Given the description of an element on the screen output the (x, y) to click on. 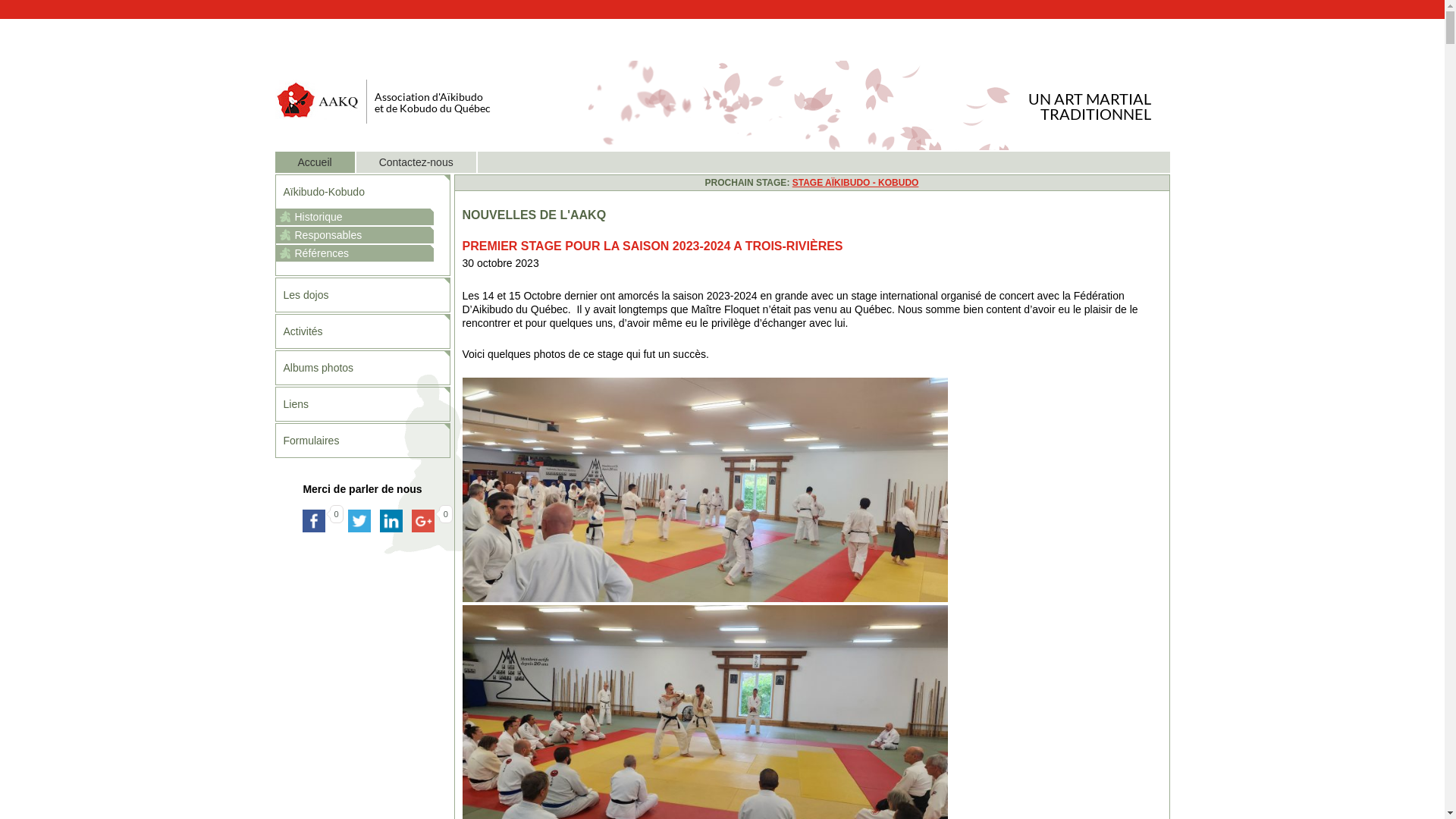
Twitter Element type: hover (359, 520)
Accueil Element type: text (336, 161)
Liens Element type: text (362, 403)
LinkedIn Element type: hover (391, 520)
Historique Element type: text (354, 216)
Responsables Element type: text (354, 234)
Formulaires Element type: text (362, 440)
Google+ Element type: hover (423, 520)
Les dojos Element type: text (362, 294)
Contactez-nous Element type: text (438, 161)
Facebook Element type: hover (313, 520)
Albums photos Element type: text (362, 367)
